Given the description of an element on the screen output the (x, y) to click on. 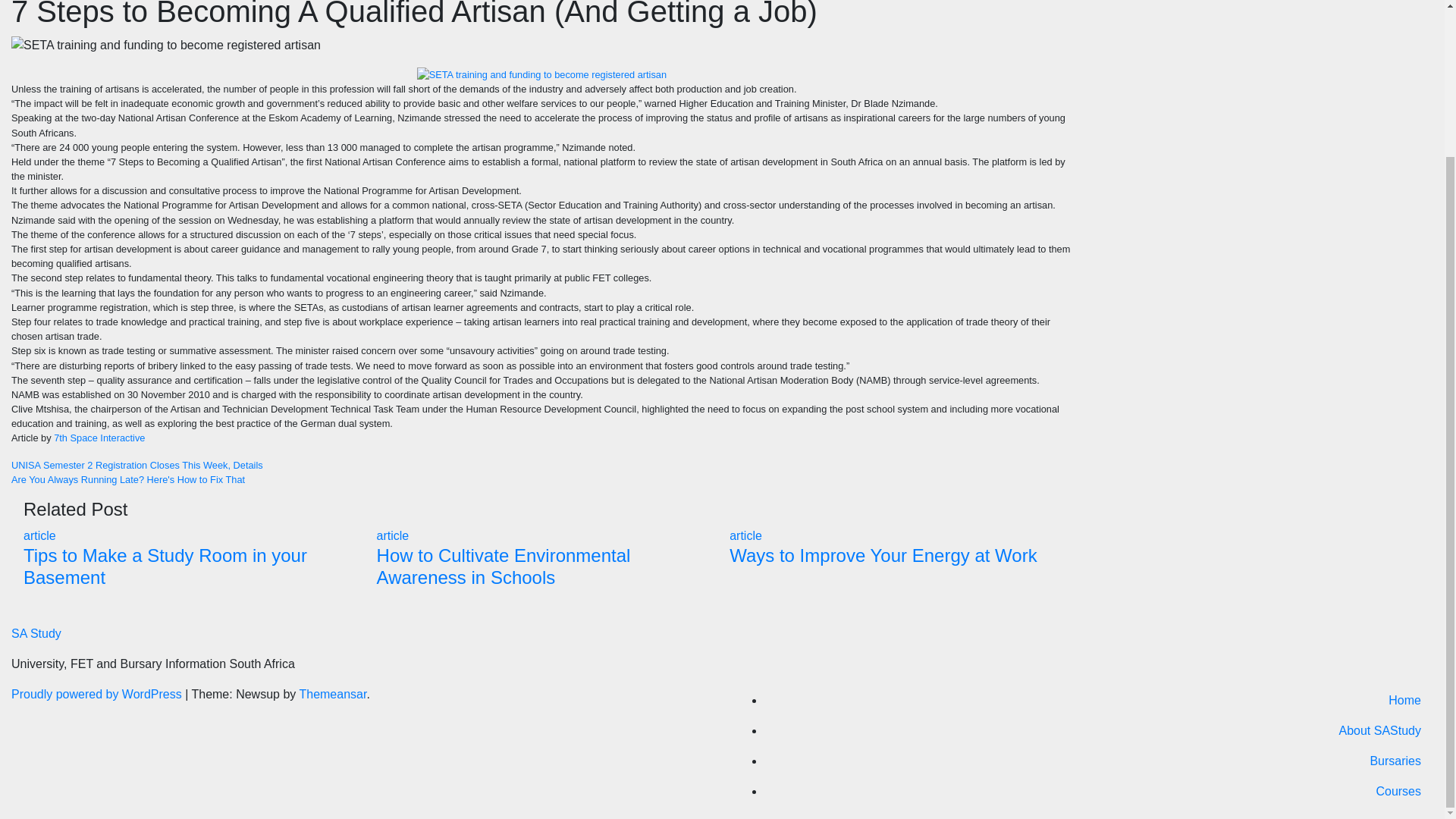
Home (1099, 700)
Home (1099, 700)
Tips to Make a Study Room in your Basement (165, 566)
How to Cultivate Environmental Awareness in Schools (503, 566)
Themeansar (332, 694)
7 Steps to Becoming an Artisan South Africa (541, 74)
SA Study (36, 633)
article (39, 535)
UNISA Semester 2 Registration Closes This Week, Details (541, 465)
Proudly powered by WordPress (97, 694)
article (745, 535)
Permalink to: Ways to Improve Your Energy at Work (882, 555)
article (393, 535)
Permalink to: Tips to Make a Study Room in your Basement (165, 566)
